Given the description of an element on the screen output the (x, y) to click on. 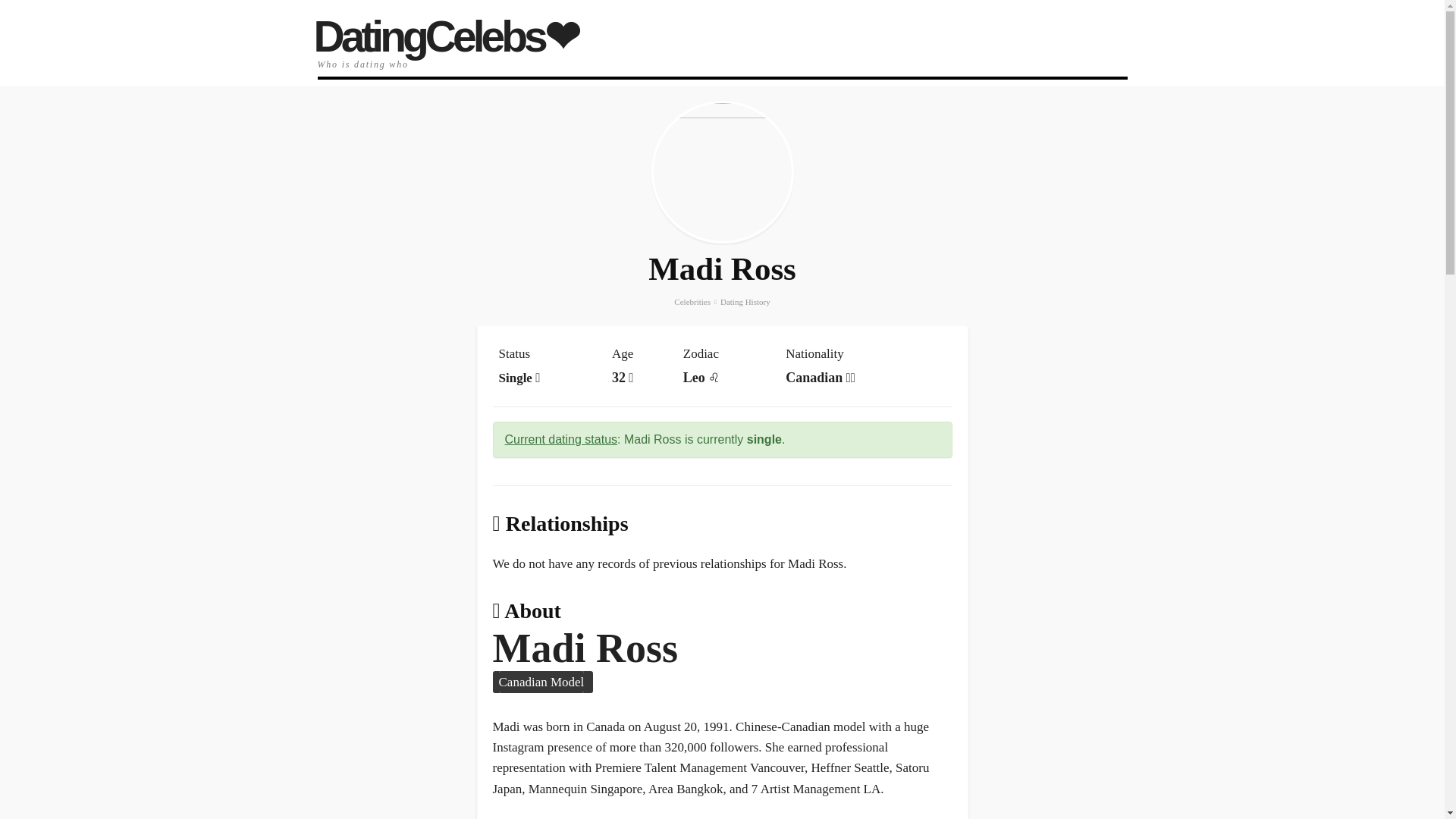
Celebrities (692, 301)
Dating History (745, 301)
View all posts in Dating History (745, 301)
